Given the description of an element on the screen output the (x, y) to click on. 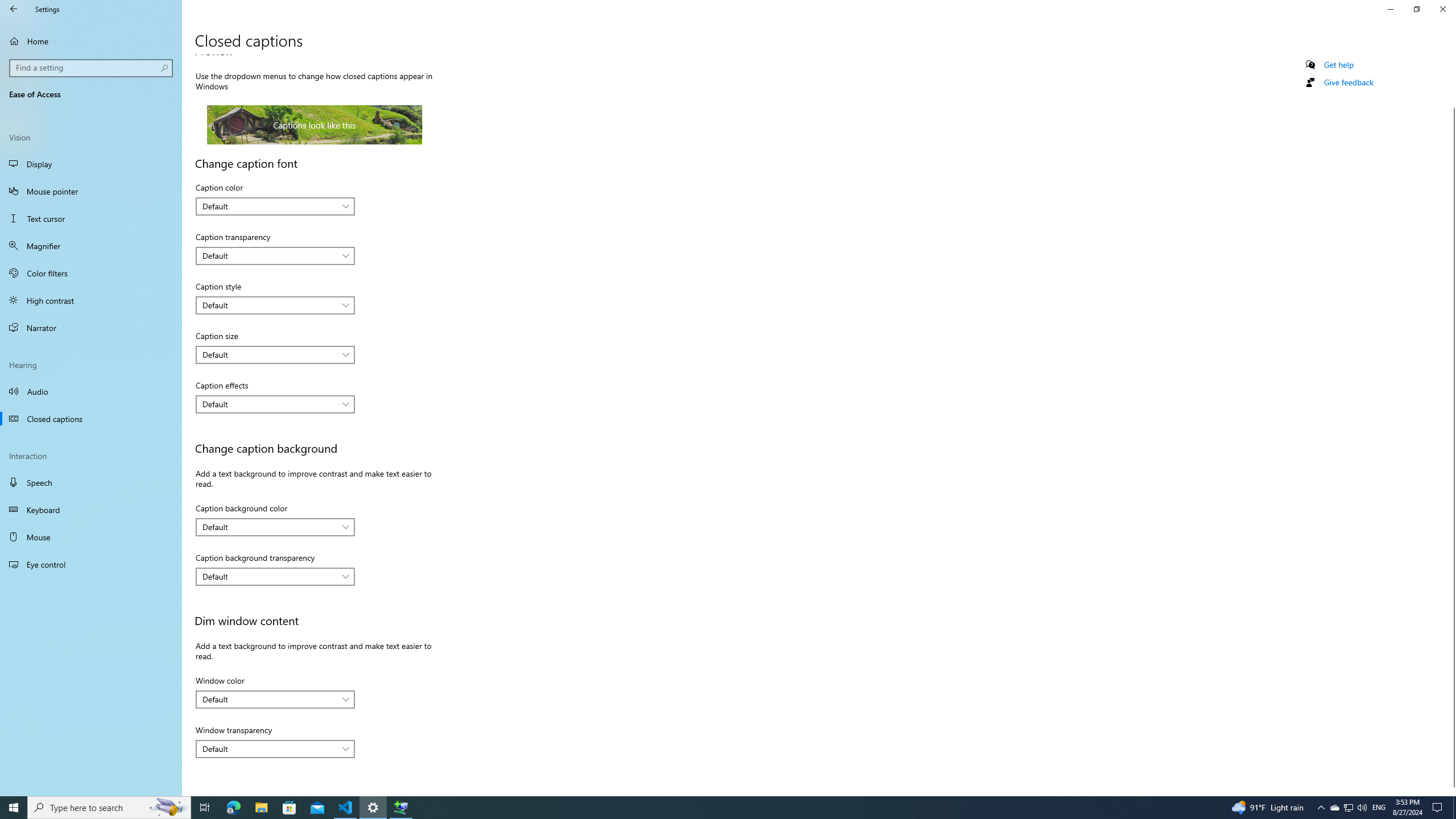
High contrast (91, 299)
Mouse (91, 536)
Extensible Wizards Host Process - 1 running window (400, 807)
Window transparency (275, 748)
Audio (91, 390)
Caption style (275, 305)
Get help (1338, 63)
Eye control (91, 564)
